Given the description of an element on the screen output the (x, y) to click on. 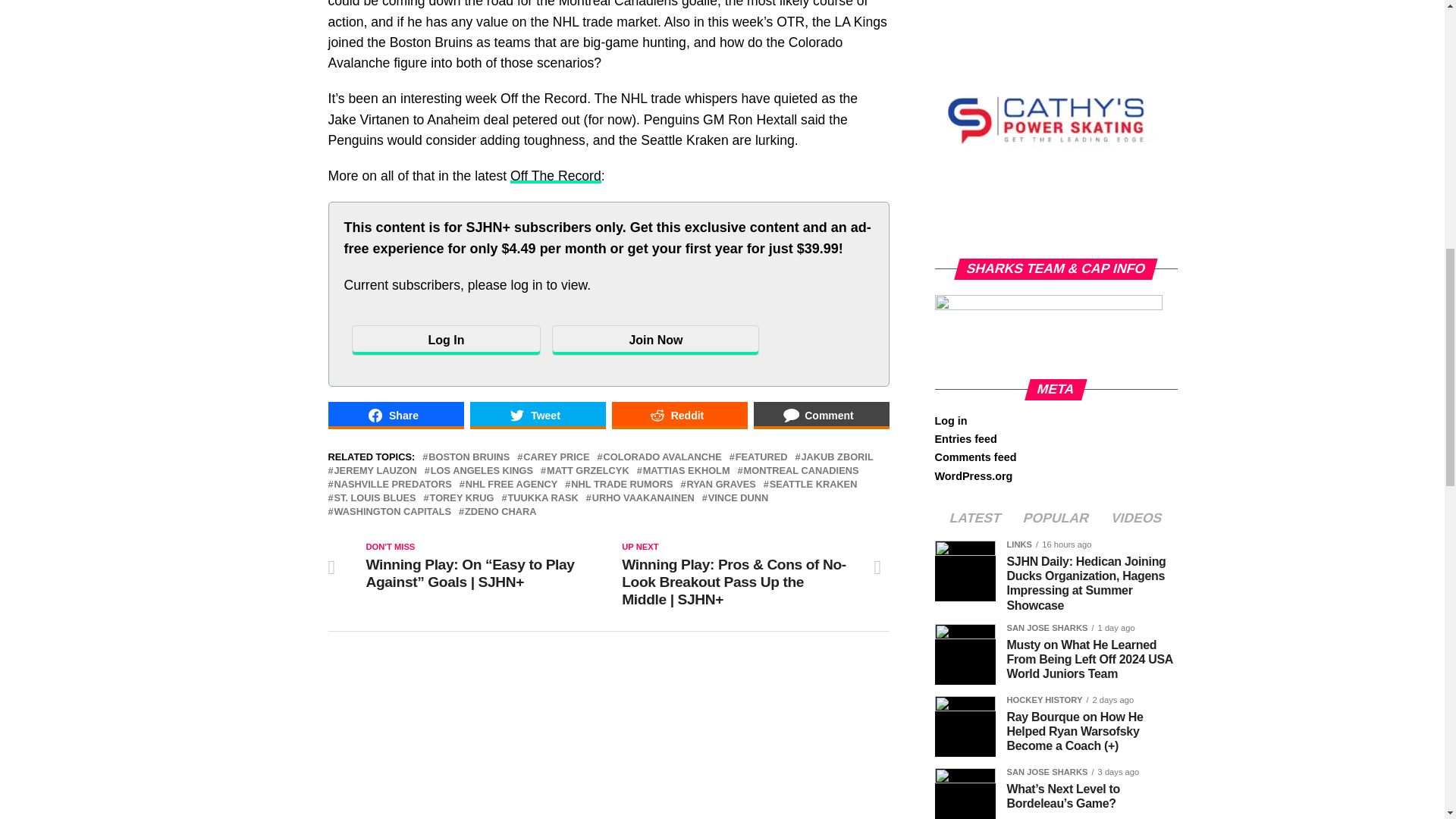
Share on Share (395, 415)
Share on Comment (821, 415)
Share on Reddit (678, 415)
Share on Tweet (537, 415)
